Given the description of an element on the screen output the (x, y) to click on. 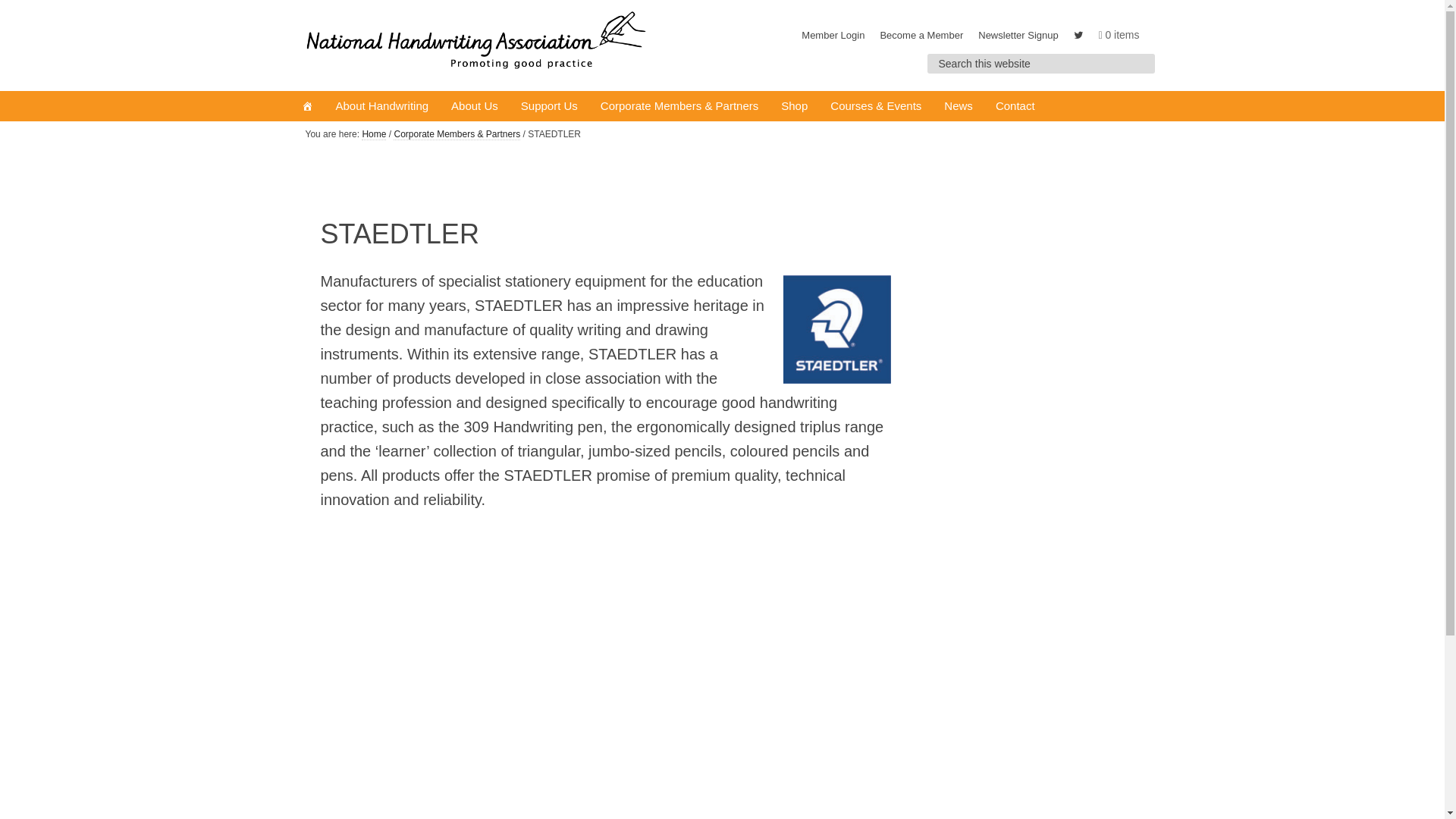
Support Us (549, 105)
Start shopping (1119, 35)
Become a Member (920, 35)
NATIONAL HANDWRITING ASSOCIATION (475, 45)
Newsletter Signup (1018, 35)
0 items (1119, 35)
Member Login (833, 35)
